Given the description of an element on the screen output the (x, y) to click on. 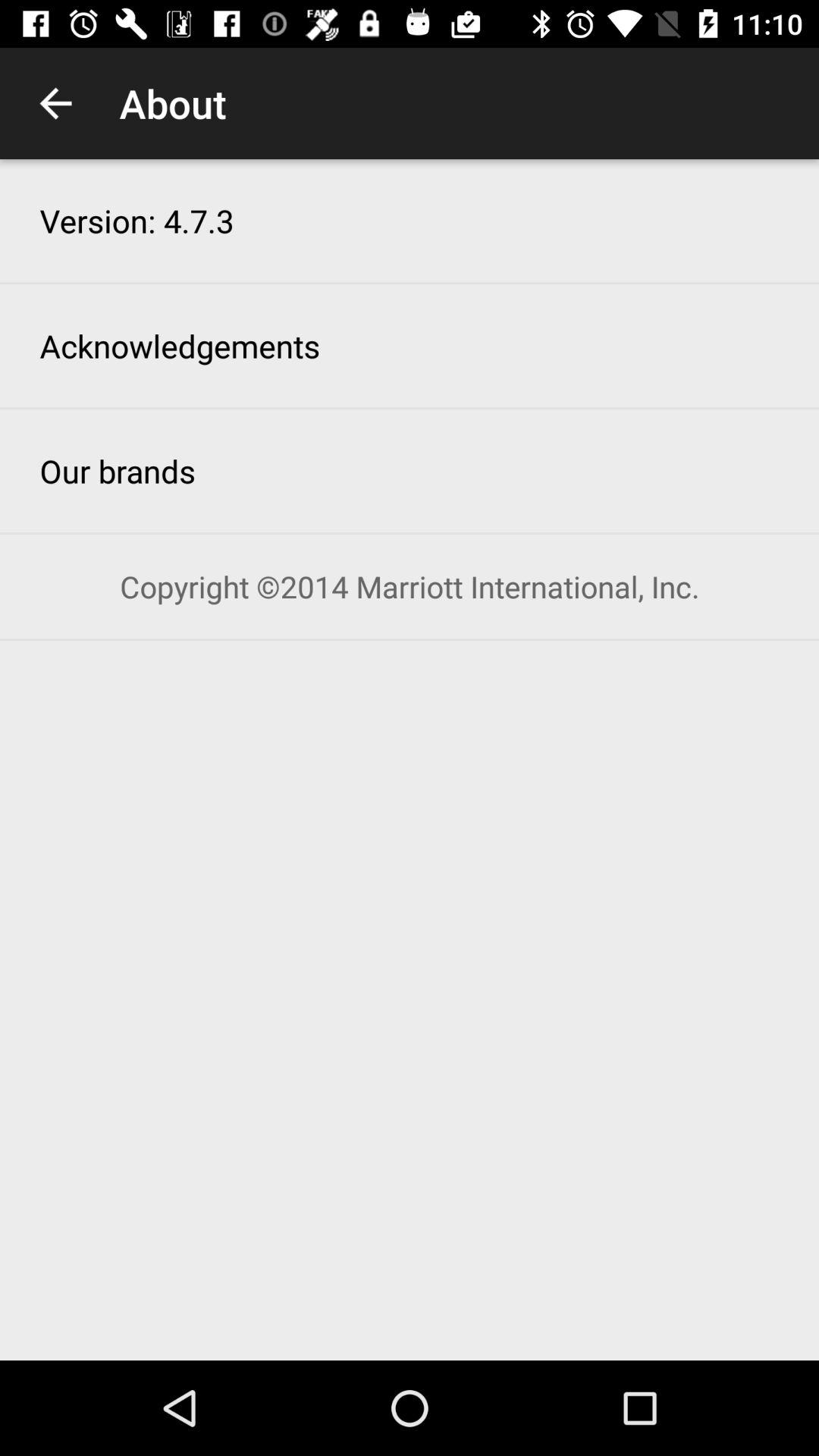
choose icon above our brands (180, 345)
